Given the description of an element on the screen output the (x, y) to click on. 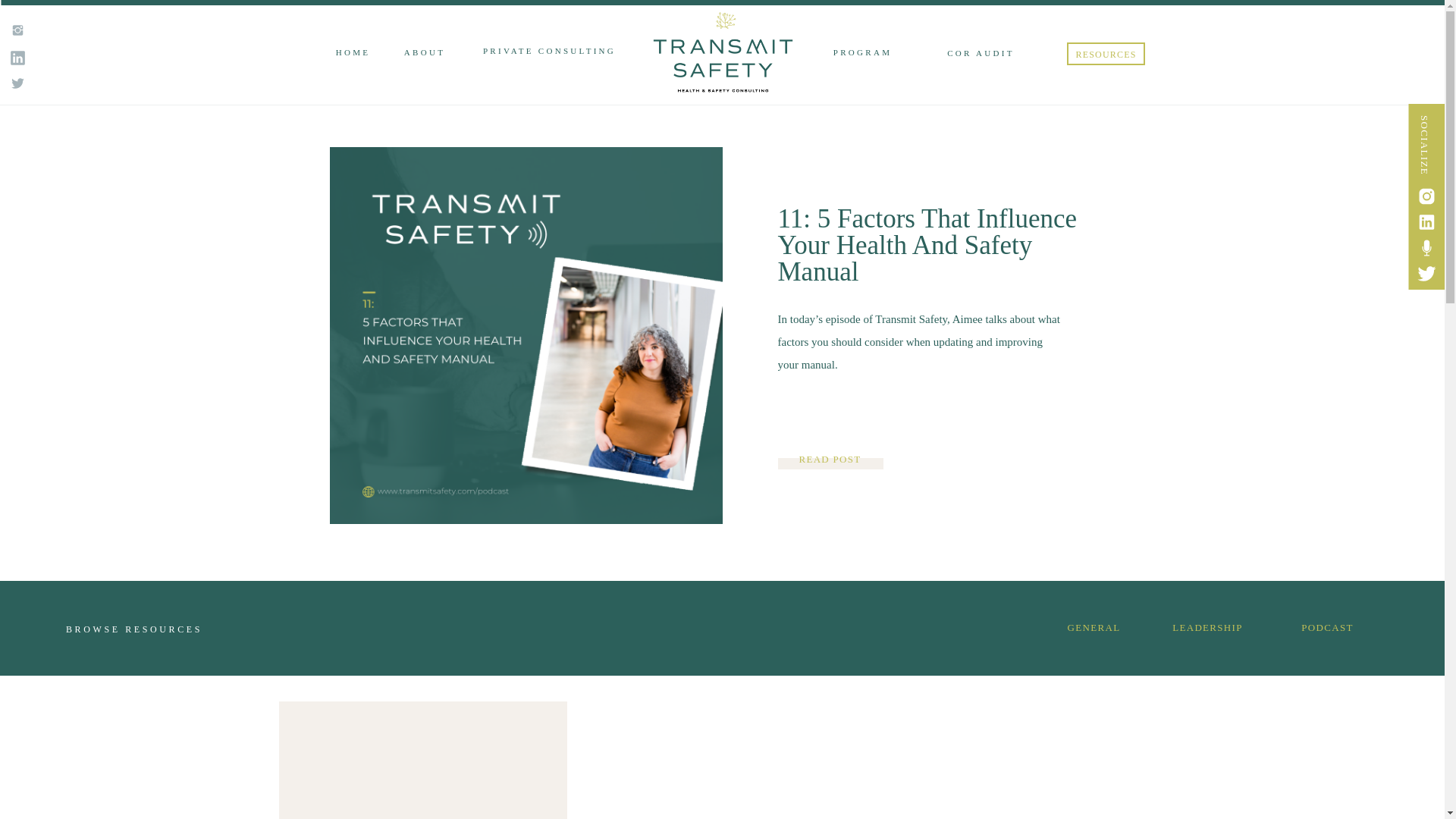
PODCAST (1327, 630)
RESOURCES (1104, 56)
PROGRAM (862, 52)
PRIVATE CONSULTING (548, 51)
ABOUT (423, 52)
GENERAL (1093, 630)
COR AUDIT (981, 53)
READ POST (829, 467)
11: 5 Factors That Influence Your Health And Safety Manual (927, 244)
LEADERSHIP (1207, 630)
11: 5 Factors That Influence Your Health and Safety Manual (829, 467)
HOME (352, 52)
